Given the description of an element on the screen output the (x, y) to click on. 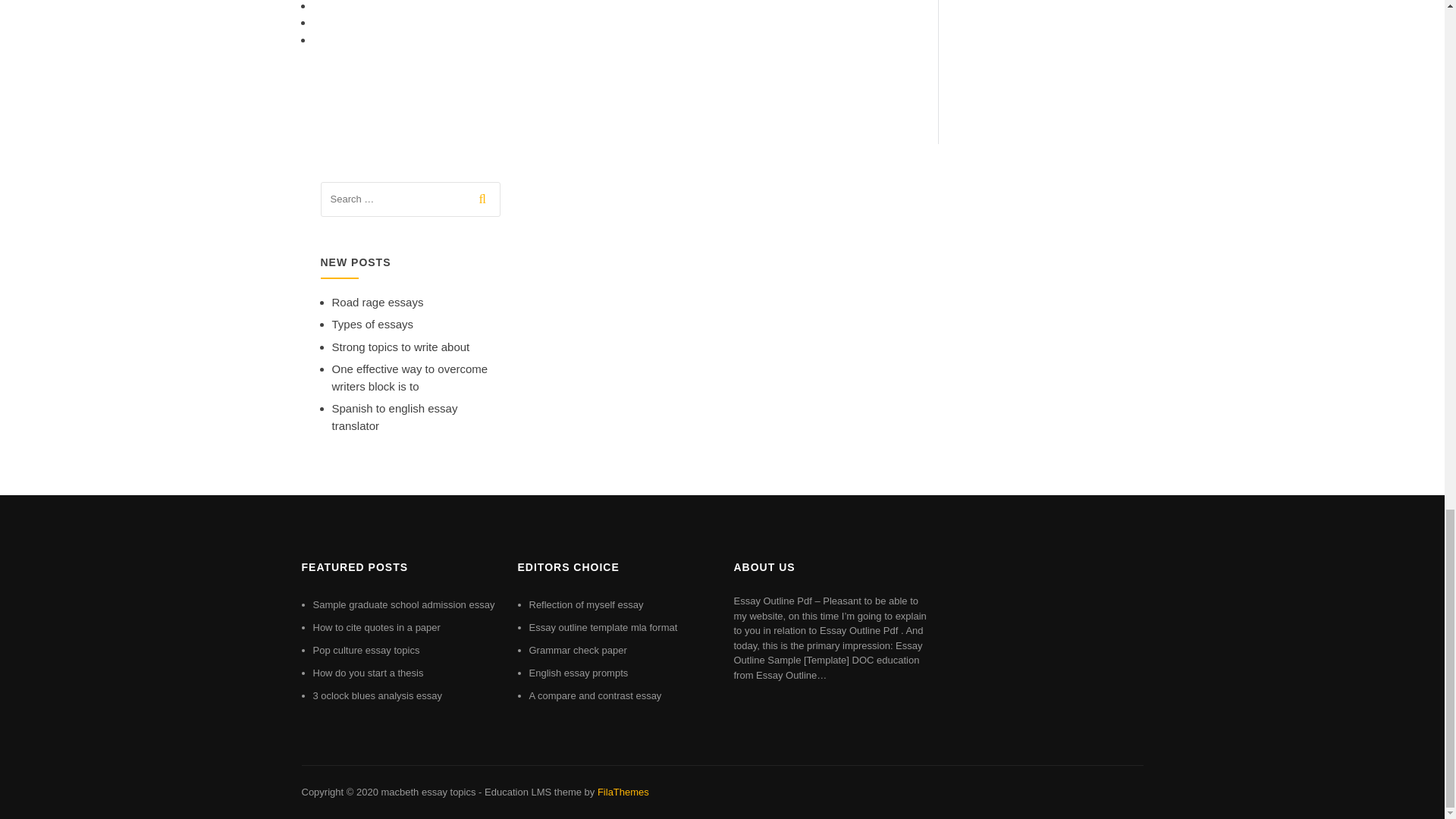
Sample graduate school admission essay (404, 604)
Strong topics to write about (400, 346)
How to cite quotes in a paper (376, 627)
Spanish to english essay translator (394, 417)
How do you start a thesis (368, 672)
Grammar check paper (578, 650)
Essay outline template mla format (603, 627)
Pop culture essay topics (366, 650)
English essay prompts (578, 672)
Road rage essays (377, 301)
